Given the description of an element on the screen output the (x, y) to click on. 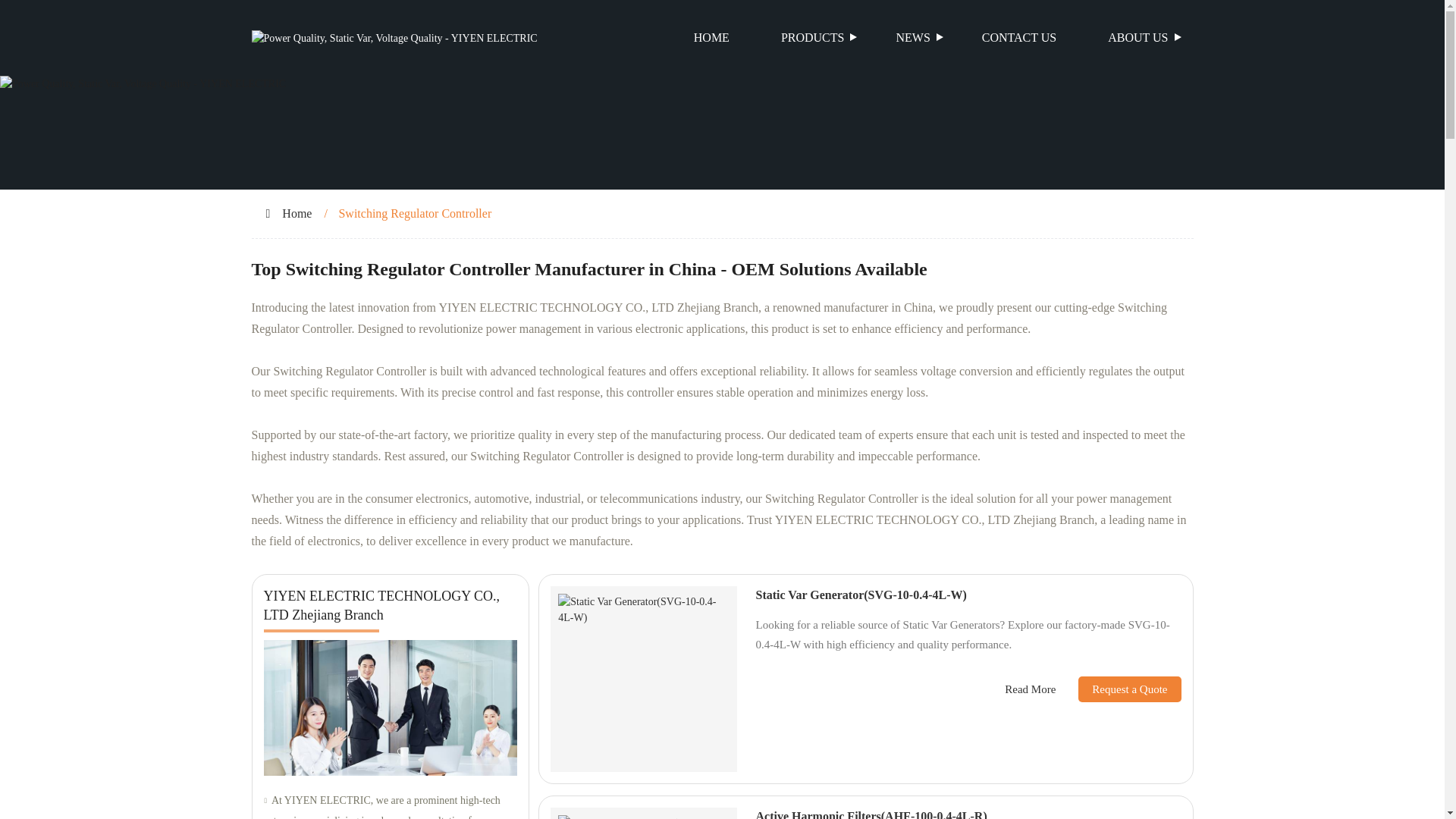
Read More (1029, 689)
Home (296, 213)
CONTACT US (1018, 38)
PRODUCTS (812, 38)
Request a Quote (1117, 688)
